Given the description of an element on the screen output the (x, y) to click on. 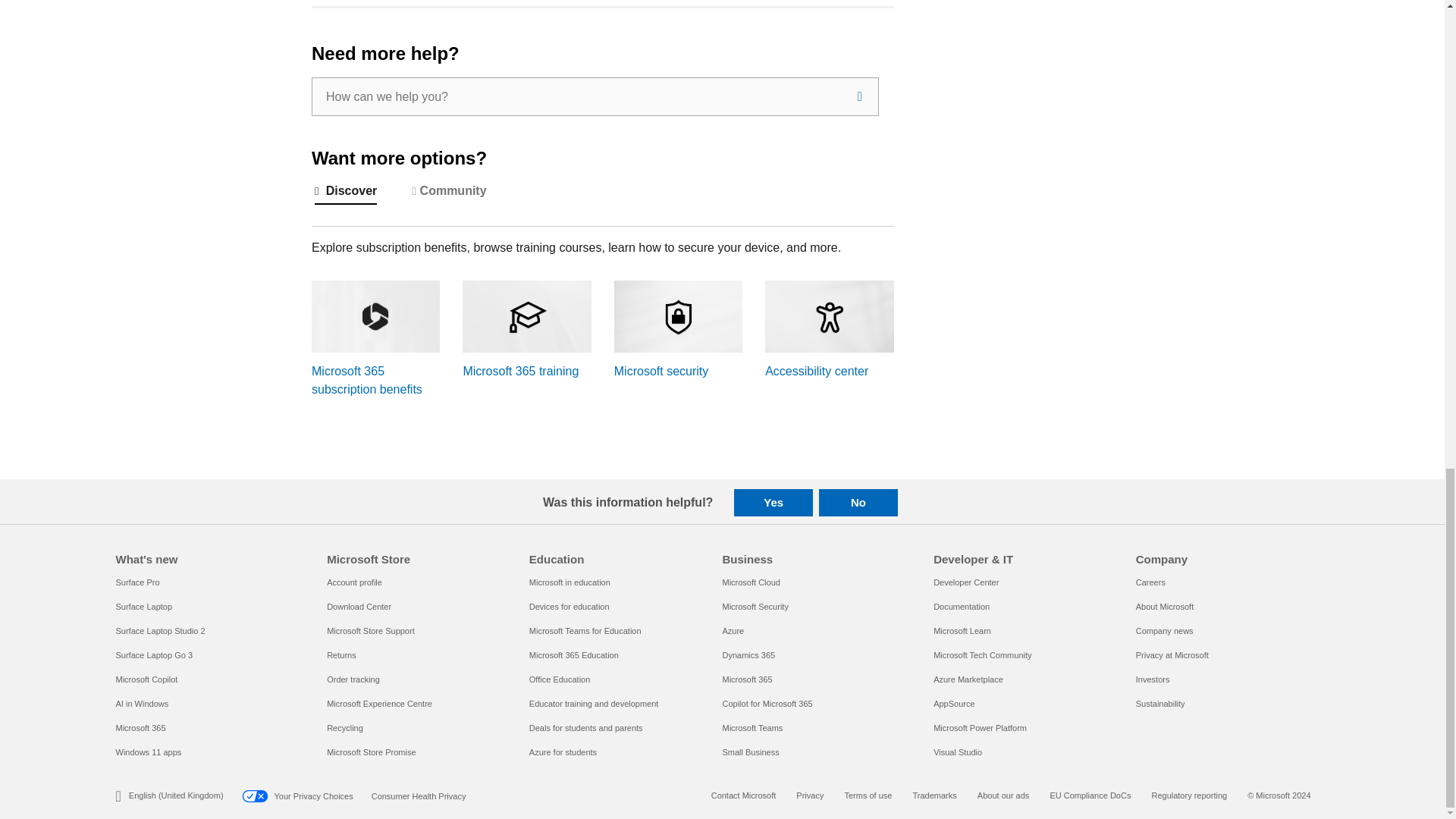
Search (860, 96)
